Given the description of an element on the screen output the (x, y) to click on. 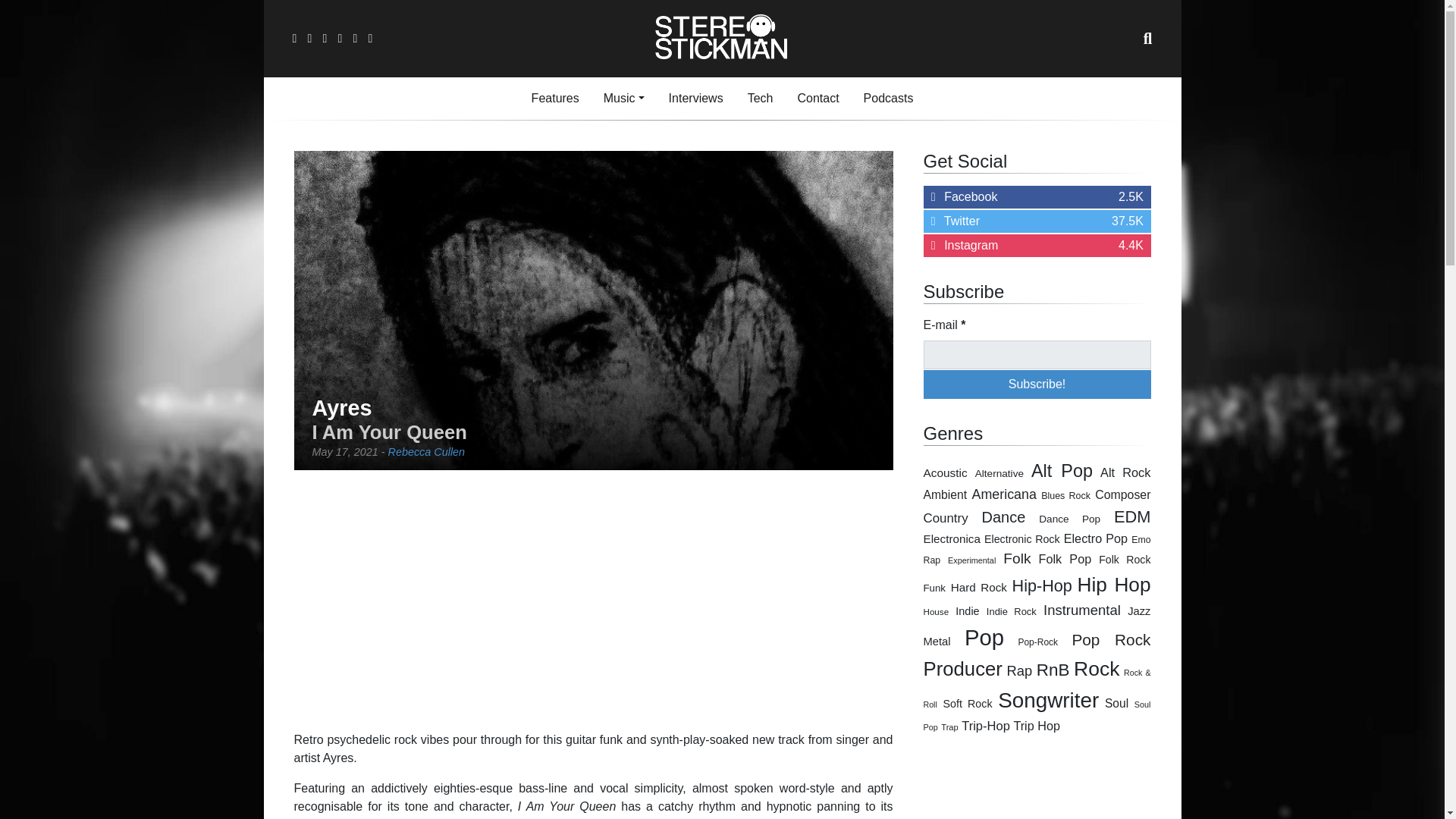
Advertisement (593, 600)
Podcasts (888, 98)
Interviews (1037, 196)
E-mail (695, 98)
Rebecca Cullen (1037, 220)
Music (1037, 354)
Contact (426, 451)
Interviews (623, 98)
